Given the description of an element on the screen output the (x, y) to click on. 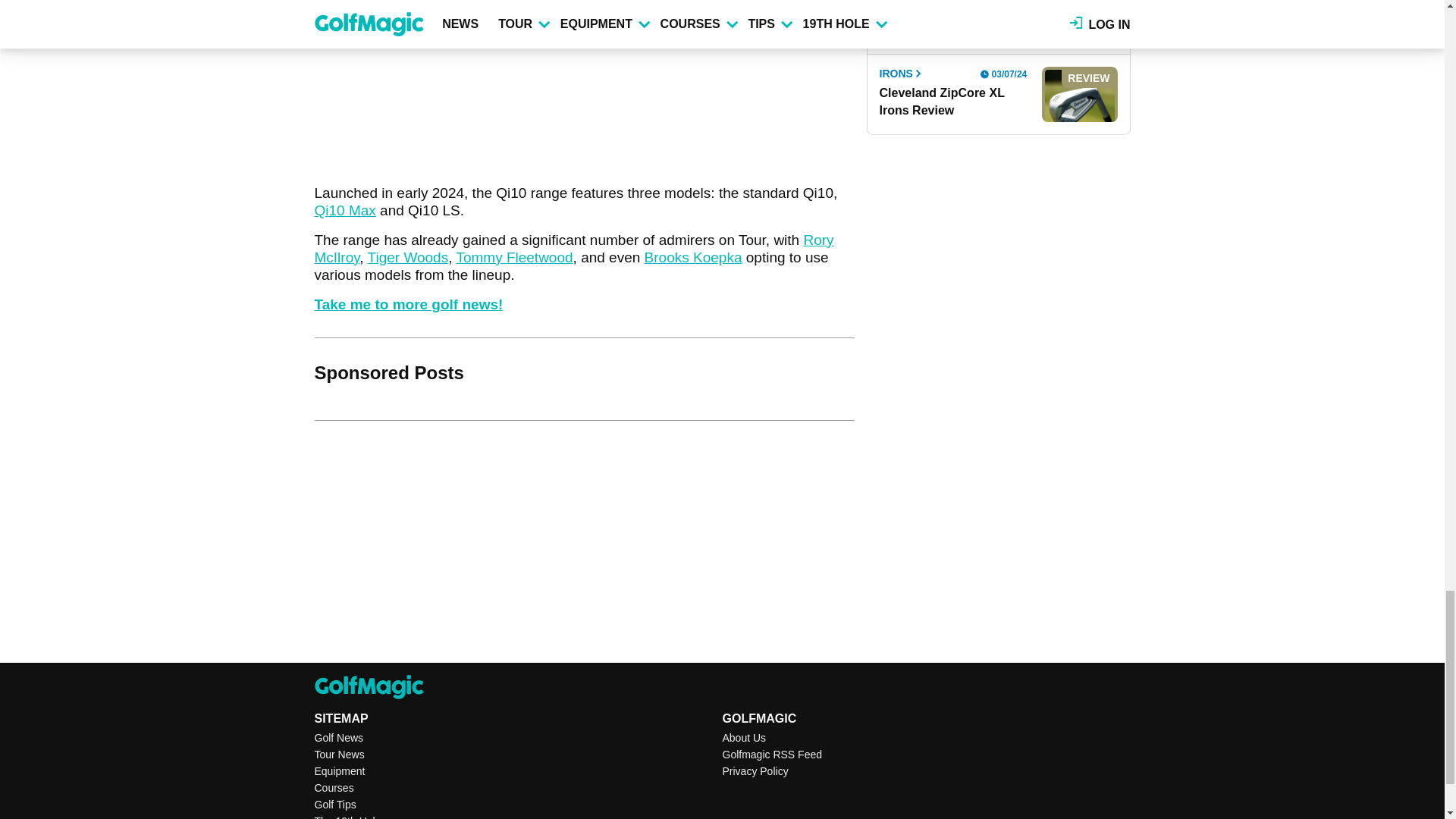
YouTube video player (526, 69)
